Given the description of an element on the screen output the (x, y) to click on. 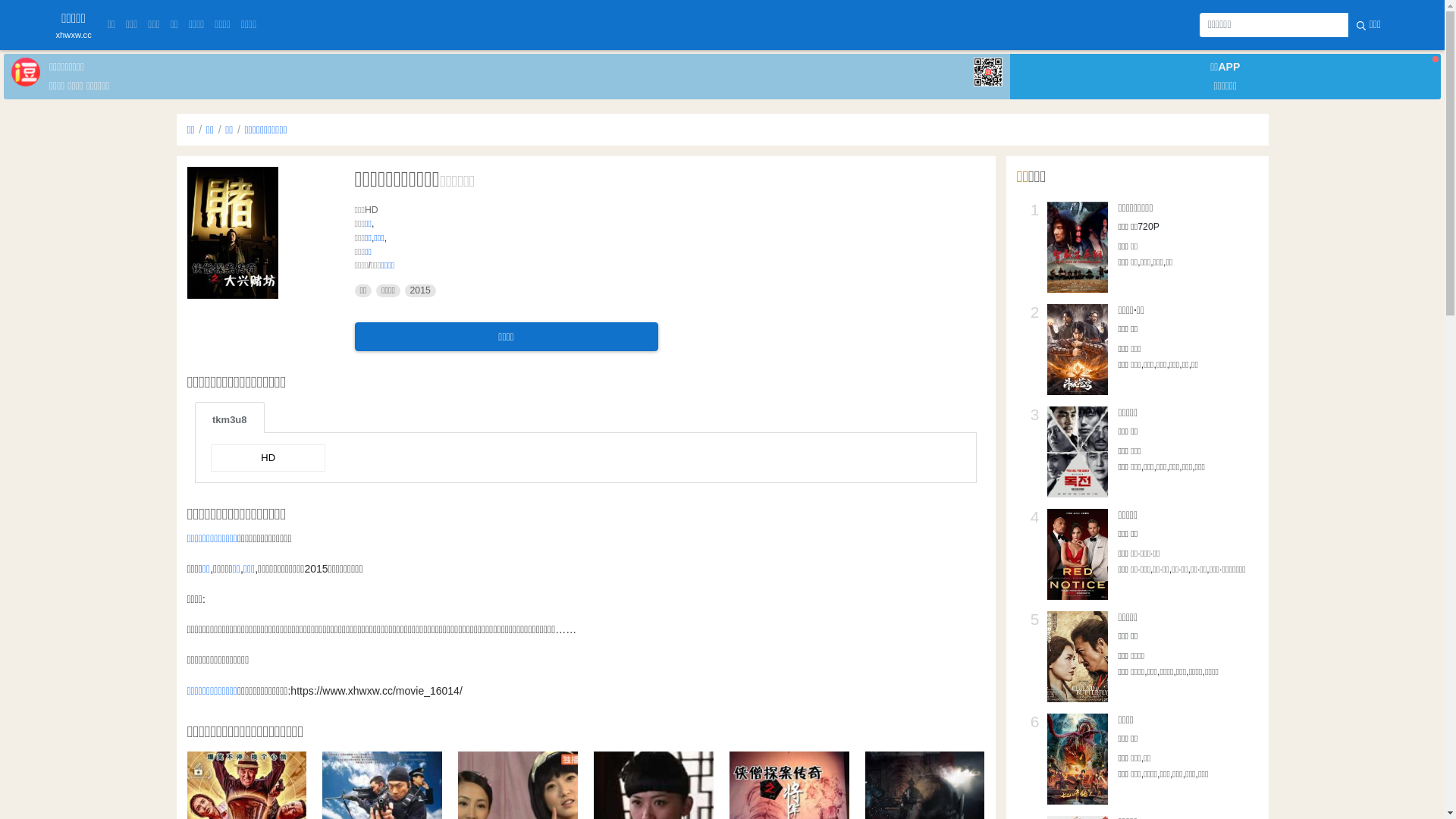
tkm3u8 Element type: text (229, 417)
HD Element type: text (267, 457)
2015 Element type: text (420, 290)
